Given the description of an element on the screen output the (x, y) to click on. 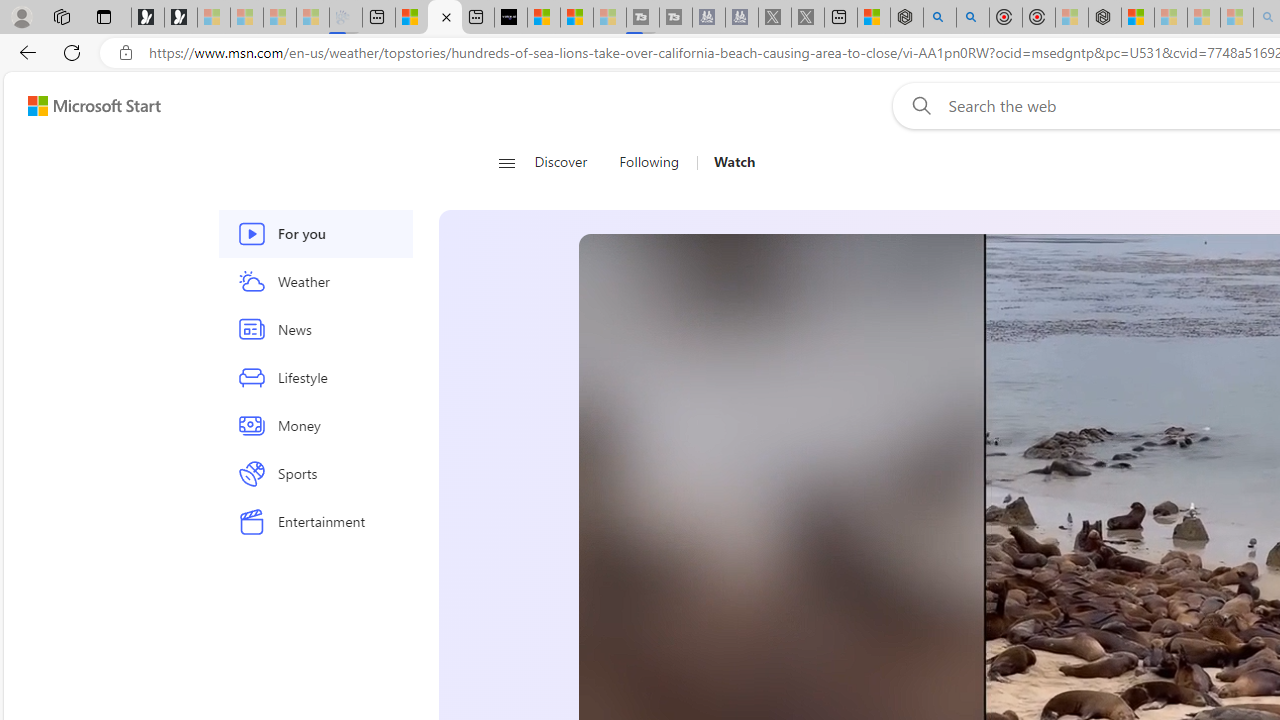
Skip to content (86, 105)
Skip to footer (82, 105)
